Given the description of an element on the screen output the (x, y) to click on. 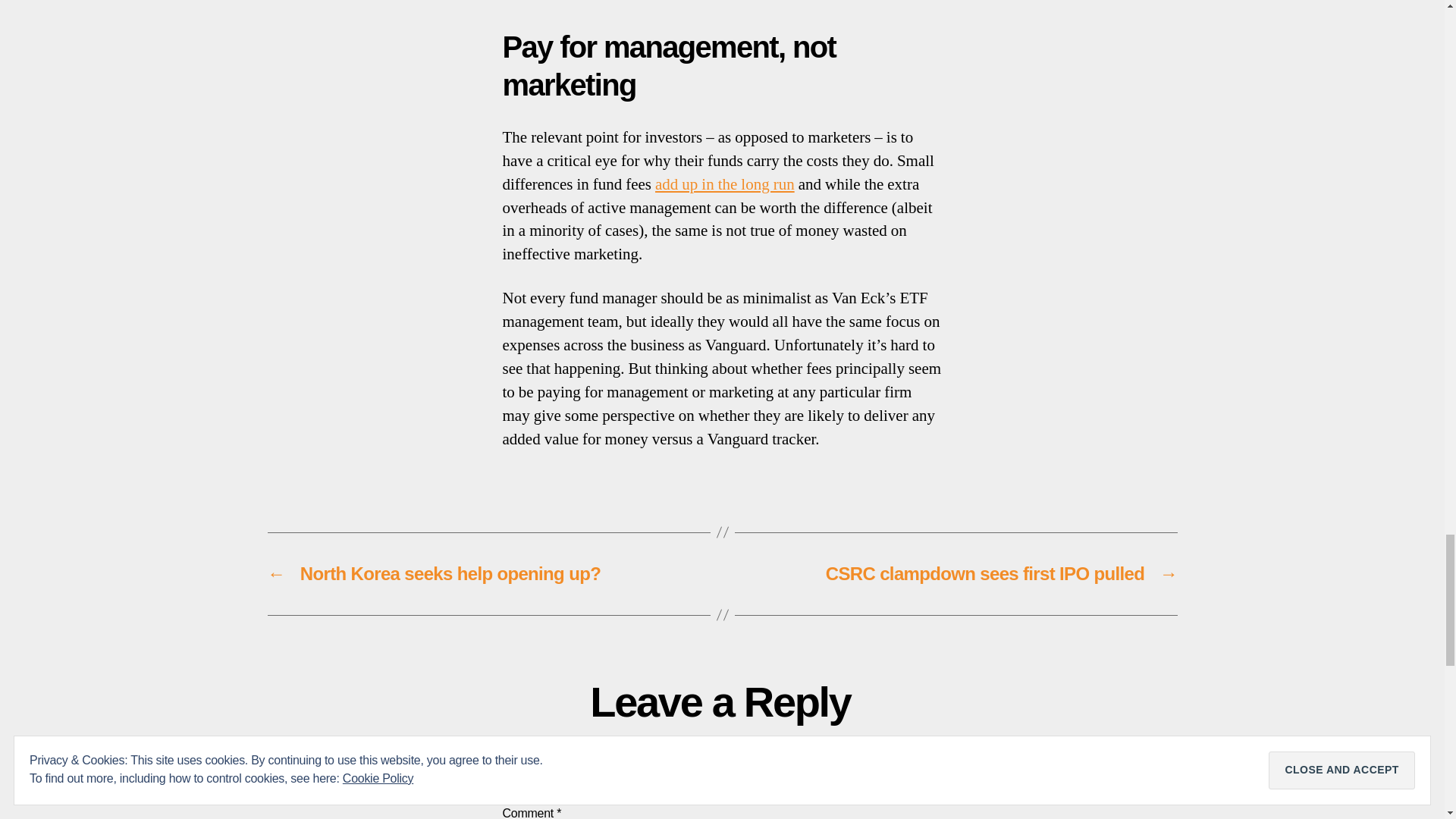
How fees affect investment fund returns (724, 184)
